Given the description of an element on the screen output the (x, y) to click on. 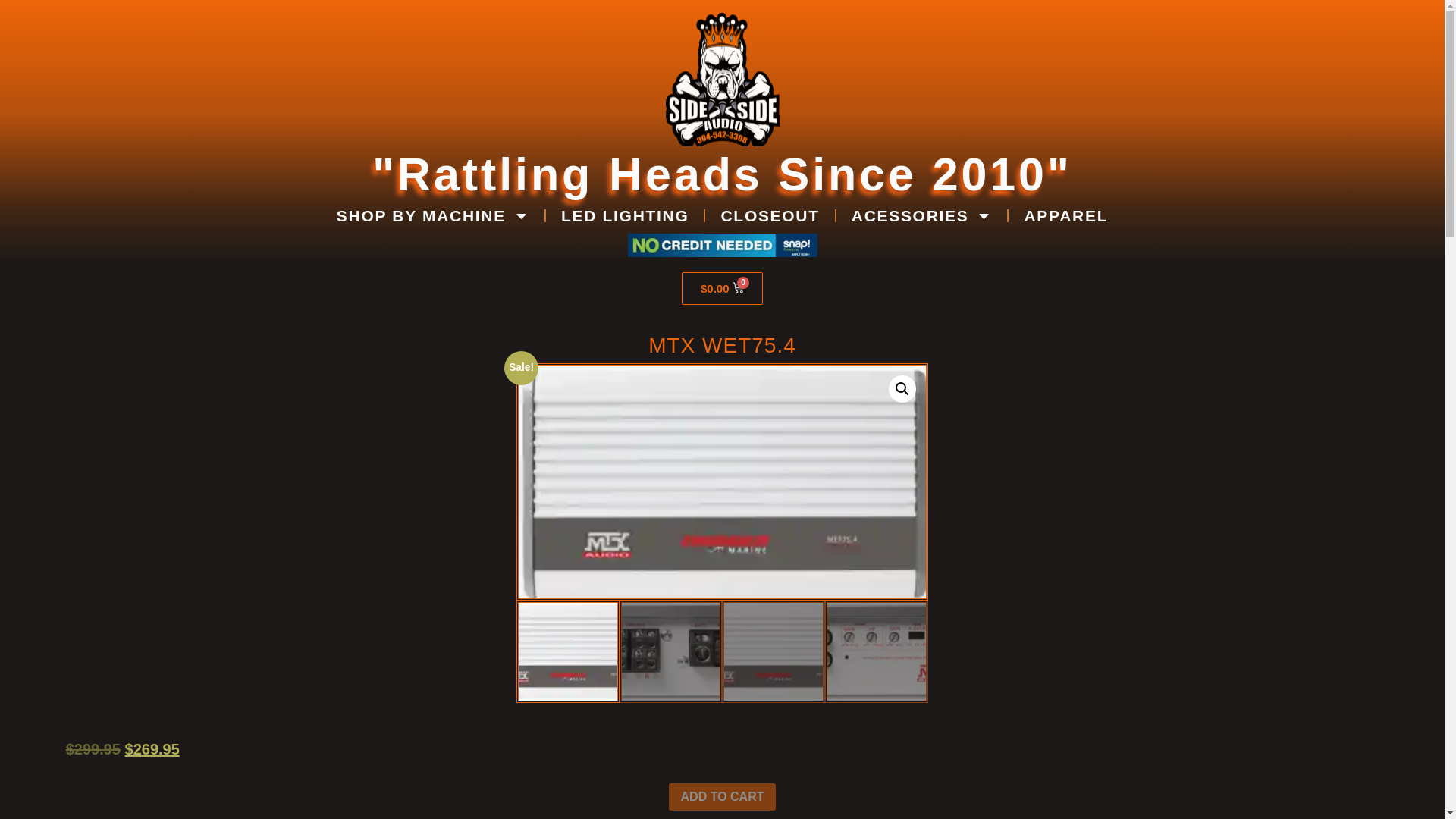
LED LIGHTING (625, 215)
APPAREL (1065, 215)
CLOSEOUT (769, 215)
SHOP BY MACHINE (432, 215)
ACESSORIES (921, 215)
MTX-WET7542.jpeg (724, 483)
